Given the description of an element on the screen output the (x, y) to click on. 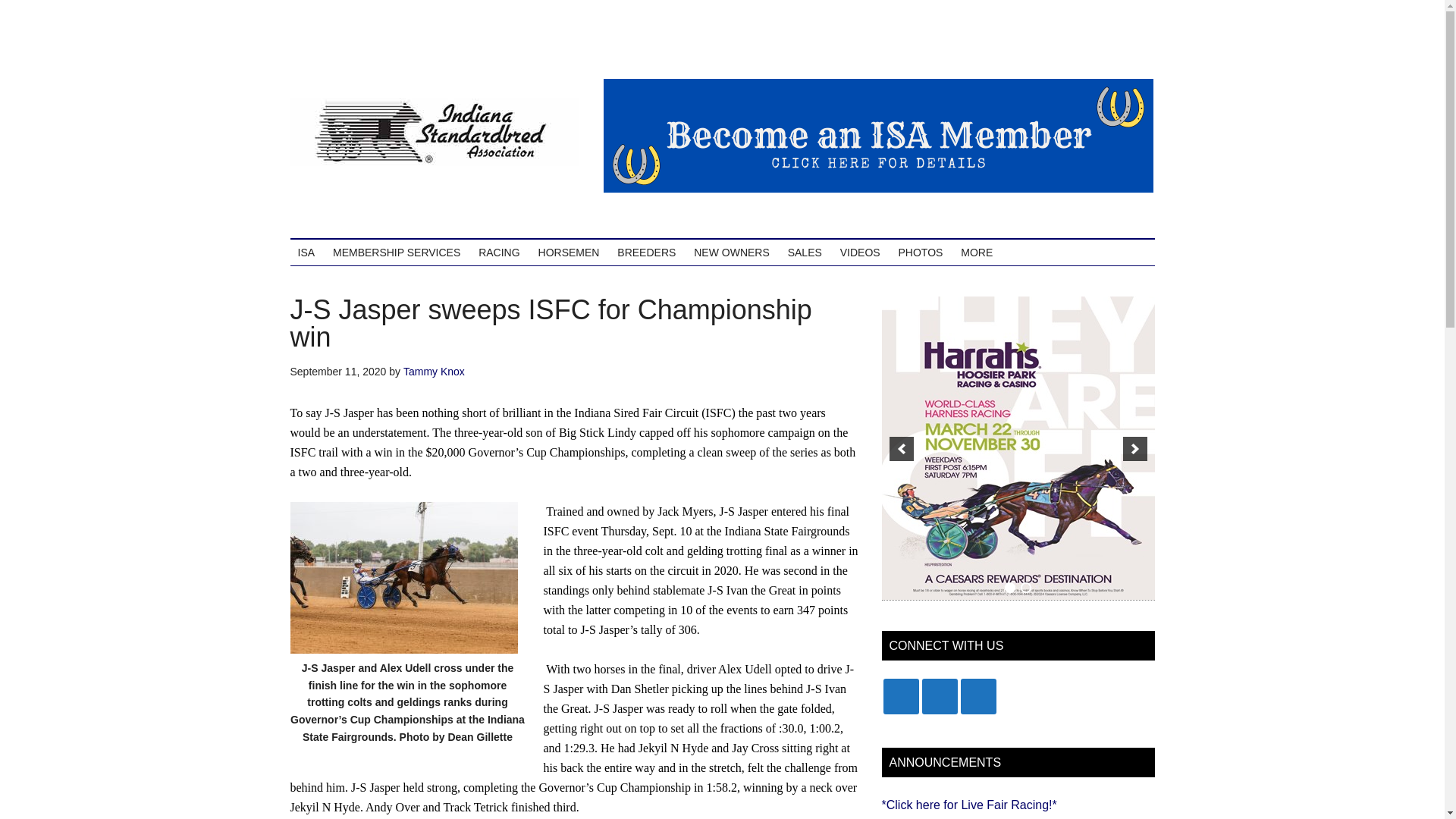
MEMBERSHIP SERVICES (395, 252)
ISA (305, 252)
RACING (498, 252)
Indiana Harness (433, 131)
